Given the description of an element on the screen output the (x, y) to click on. 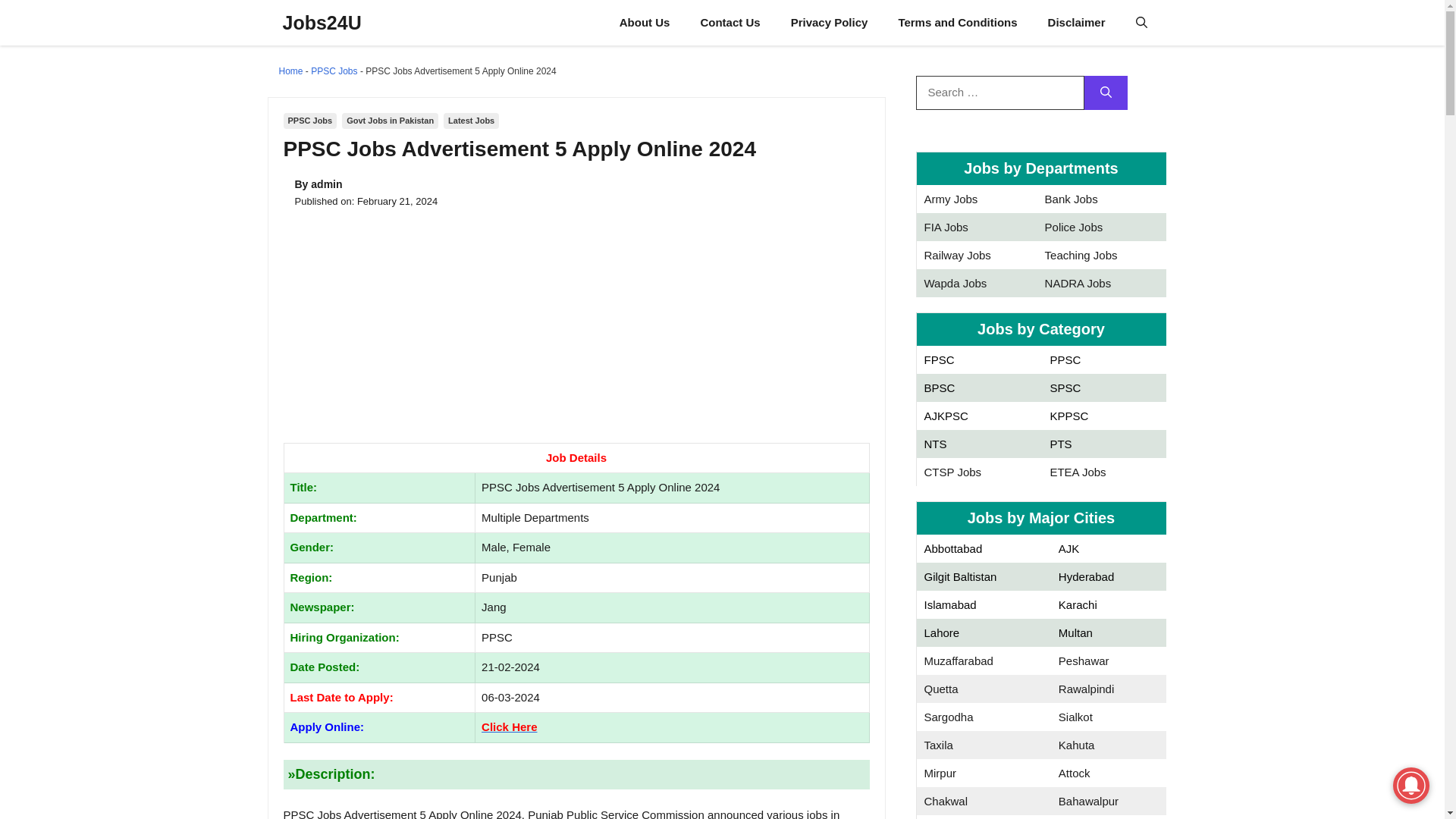
Jobs24U (321, 22)
PPSC Jobs (333, 71)
Govt Jobs in Pakistan (390, 120)
Disclaimer (1076, 22)
admin (326, 184)
Advertisement (576, 330)
Click Here (509, 726)
PPSC Jobs (310, 120)
Privacy Policy (829, 22)
Contact Us (729, 22)
Latest Jobs (471, 120)
Home (290, 71)
Search for: (999, 92)
Terms and Conditions (957, 22)
About Us (644, 22)
